Given the description of an element on the screen output the (x, y) to click on. 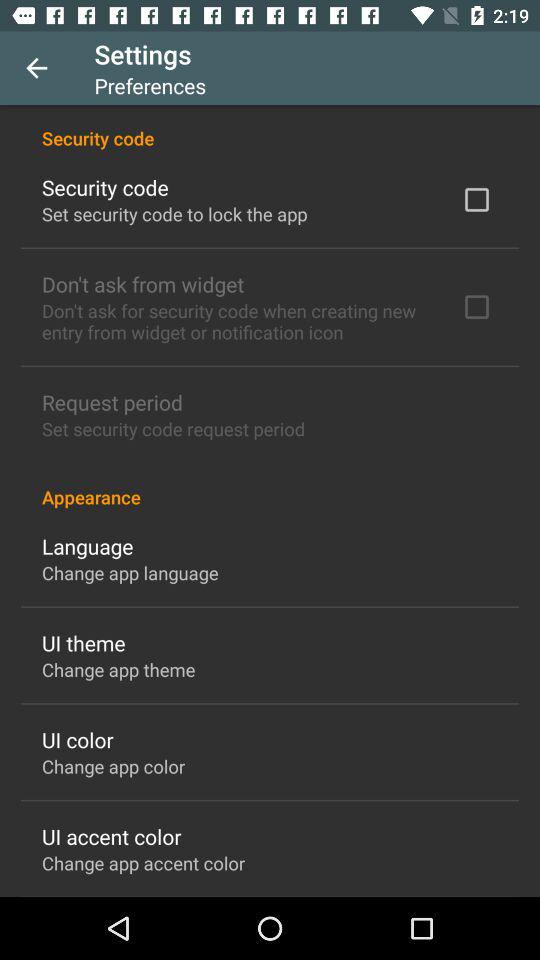
open the icon above change app theme (83, 642)
